Given the description of an element on the screen output the (x, y) to click on. 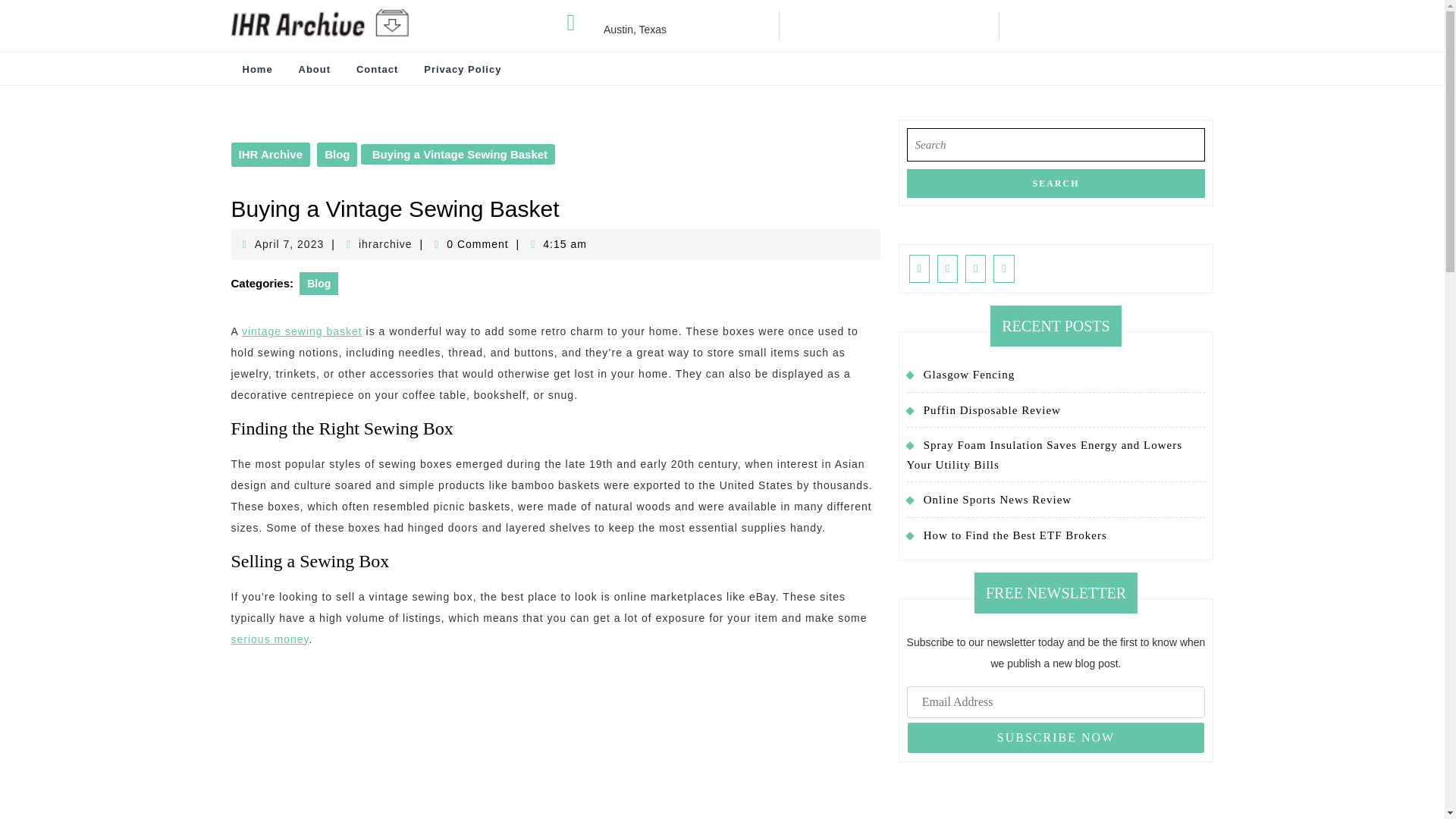
Facebook (919, 268)
Search (1056, 183)
Search (289, 244)
Search (1056, 183)
About (1056, 183)
Contact (314, 69)
Home (377, 69)
Privacy Policy (256, 69)
serious money (462, 69)
SUBSCRIBE NOW (269, 639)
Blog (1056, 737)
Puffin Disposable Review (336, 154)
vintage sewing basket (992, 409)
